Given the description of an element on the screen output the (x, y) to click on. 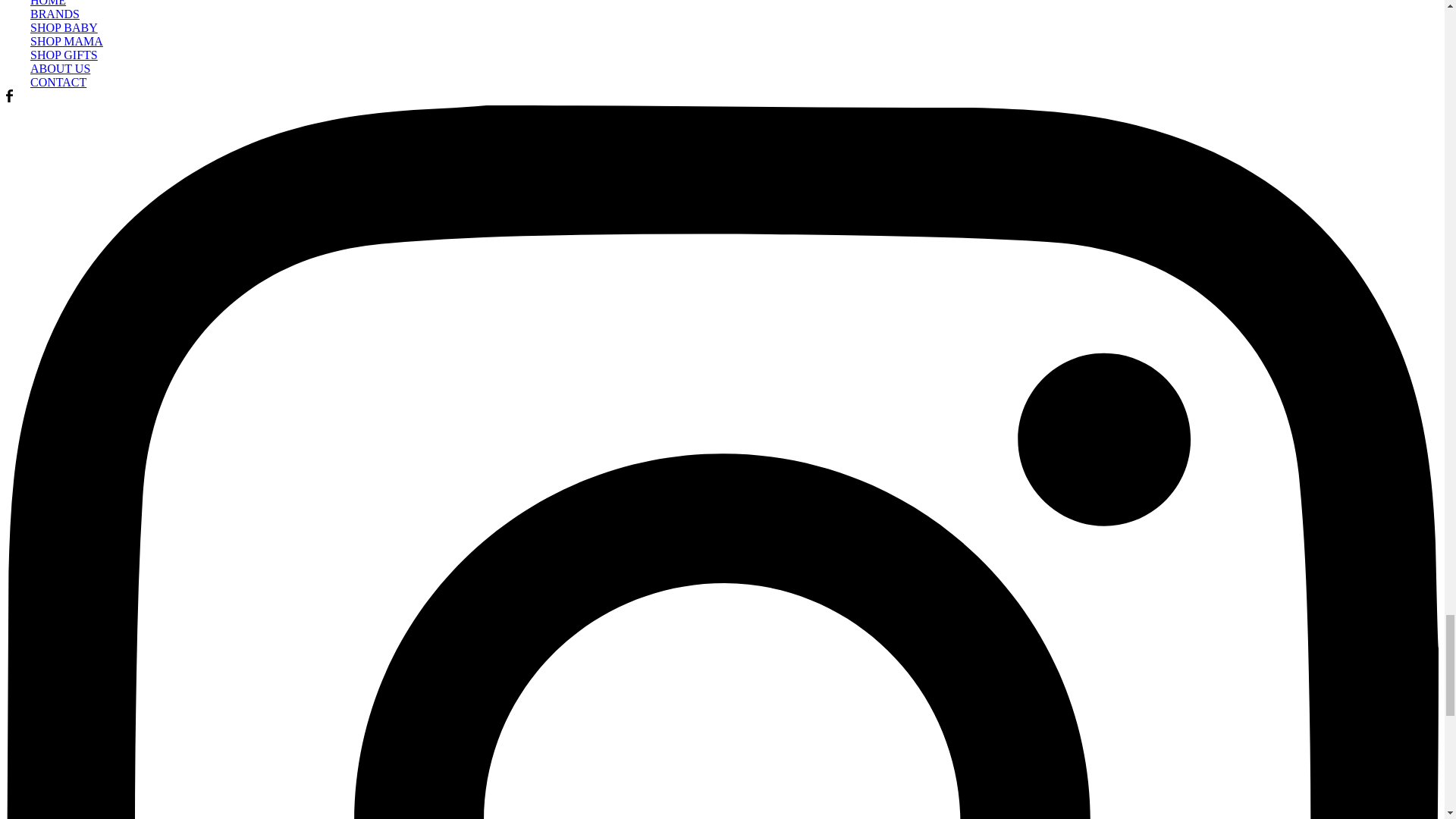
A link to this website's Facebook. (9, 97)
